Given the description of an element on the screen output the (x, y) to click on. 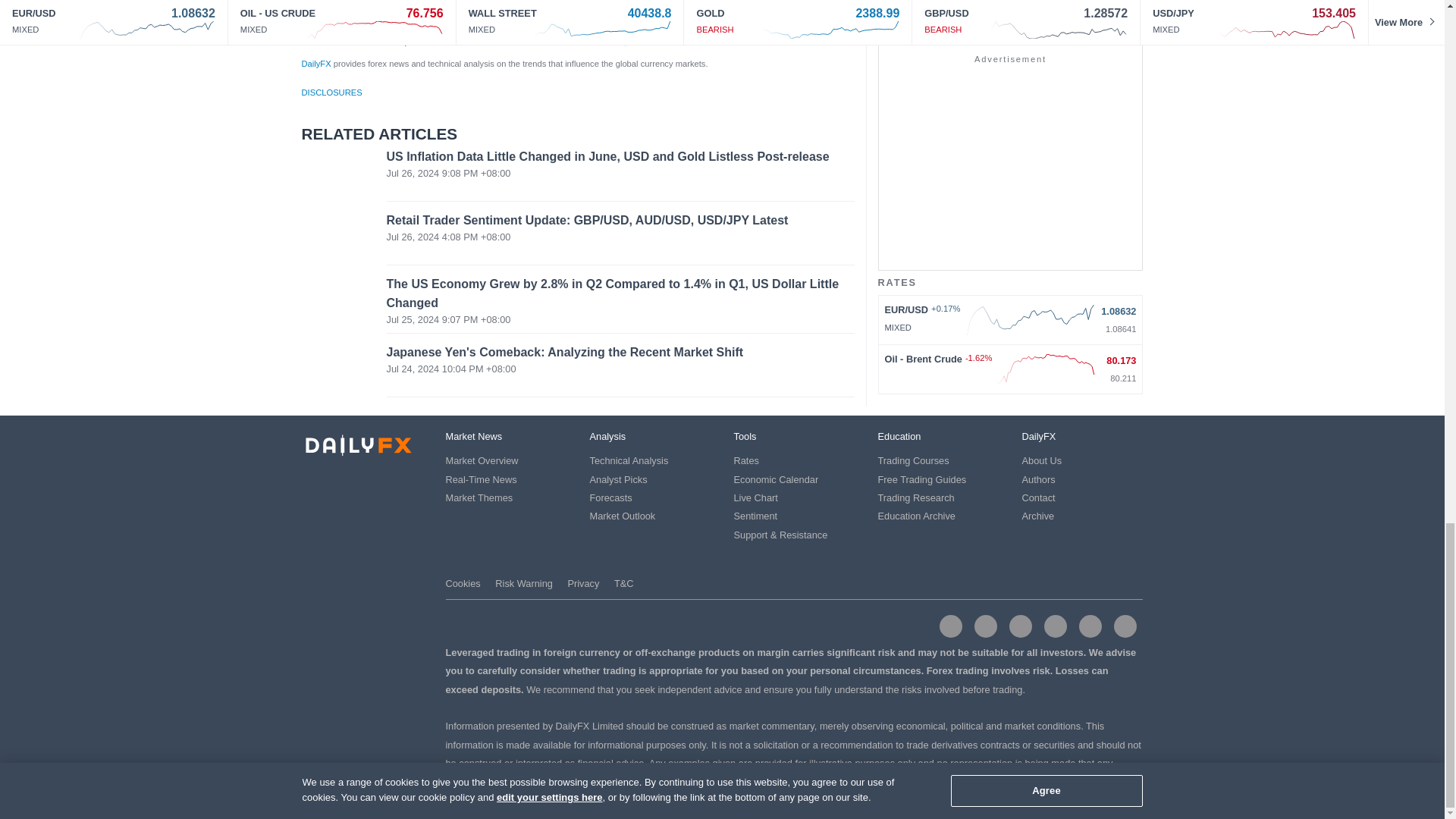
Analysis (607, 436)
Rates (745, 460)
Tools (745, 436)
Real-Time News (480, 479)
Market News (473, 436)
Market Themes (479, 497)
Market Outlook (622, 515)
Forecasts (610, 497)
Technical Analysis (628, 460)
Economic Calendar (775, 479)
Market Overview (481, 460)
Analyst Picks (618, 479)
